Given the description of an element on the screen output the (x, y) to click on. 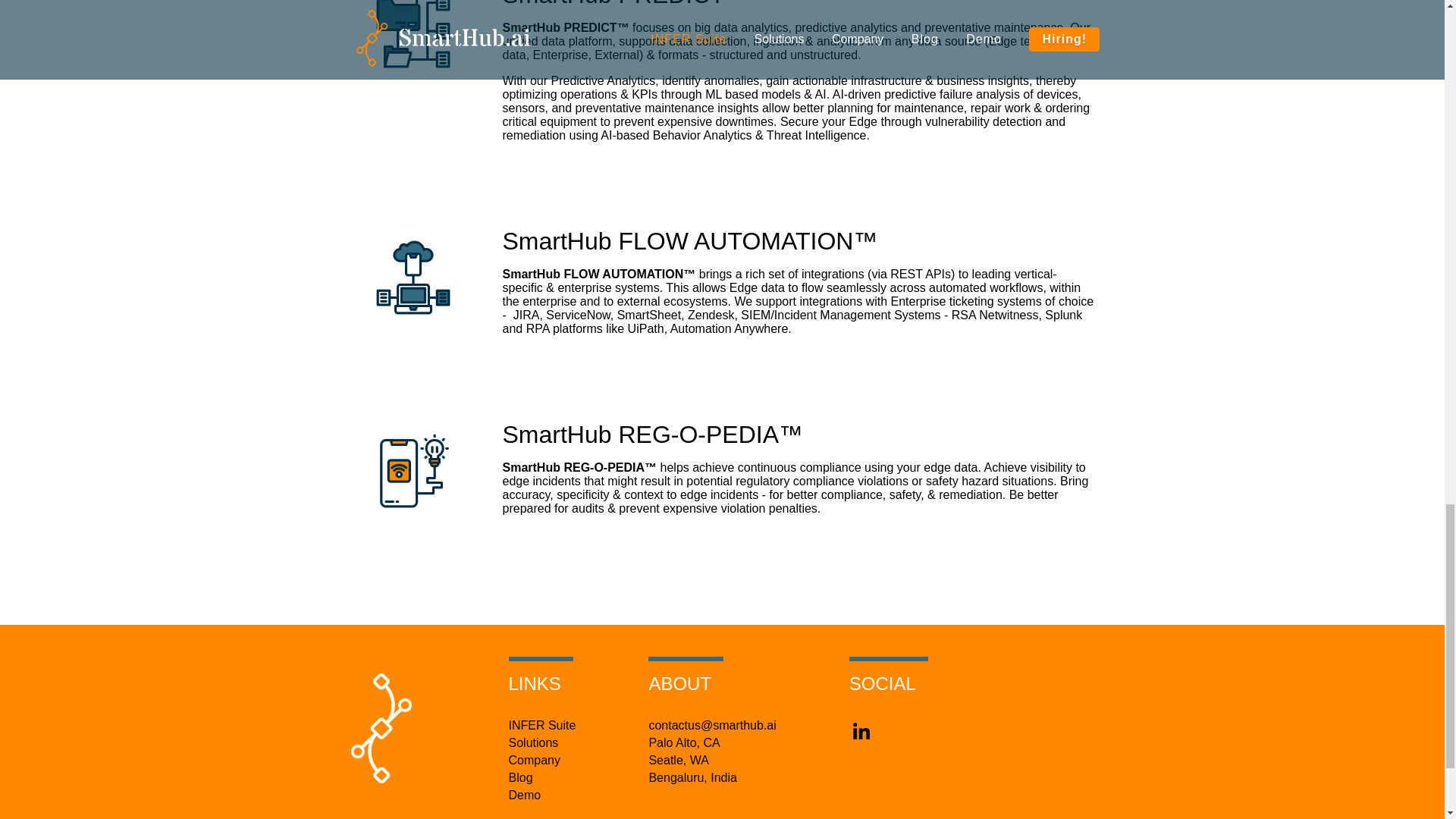
INFER Suite (541, 725)
Company (533, 760)
Demo (524, 795)
Blog (520, 777)
Solutions (532, 743)
